Given the description of an element on the screen output the (x, y) to click on. 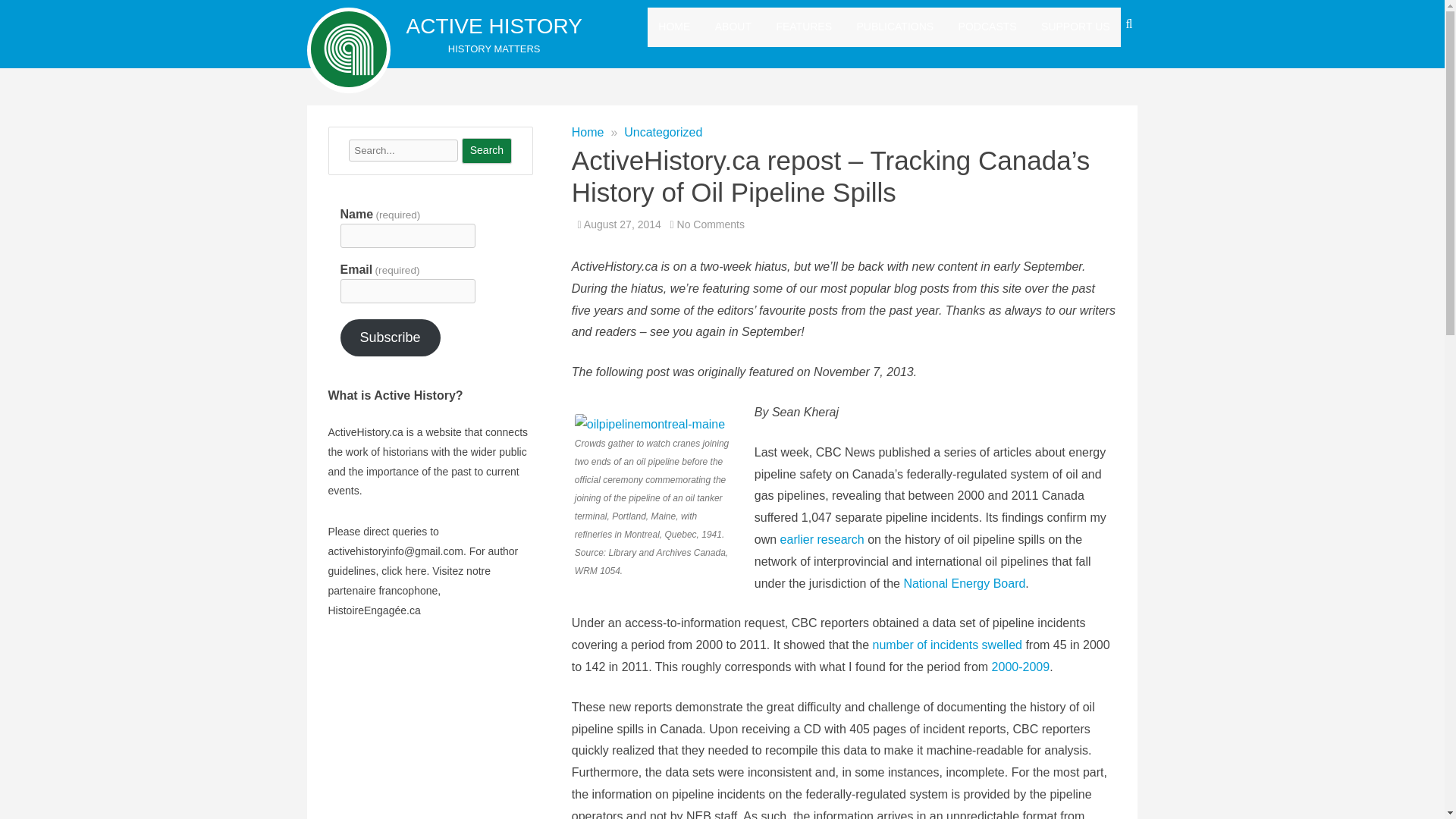
PODCASTS (987, 26)
Subscribe (389, 337)
PUBLICATIONS (895, 26)
earlier research (822, 539)
Search (486, 150)
Home (588, 132)
Uncategorized (662, 132)
ACTIVE HISTORY (494, 26)
FEATURES (803, 26)
SUPPORT US (1075, 26)
National Energy Board (963, 583)
Search (486, 150)
number of incidents swelled (947, 644)
click here (403, 571)
2000-2009 (1020, 666)
